Given the description of an element on the screen output the (x, y) to click on. 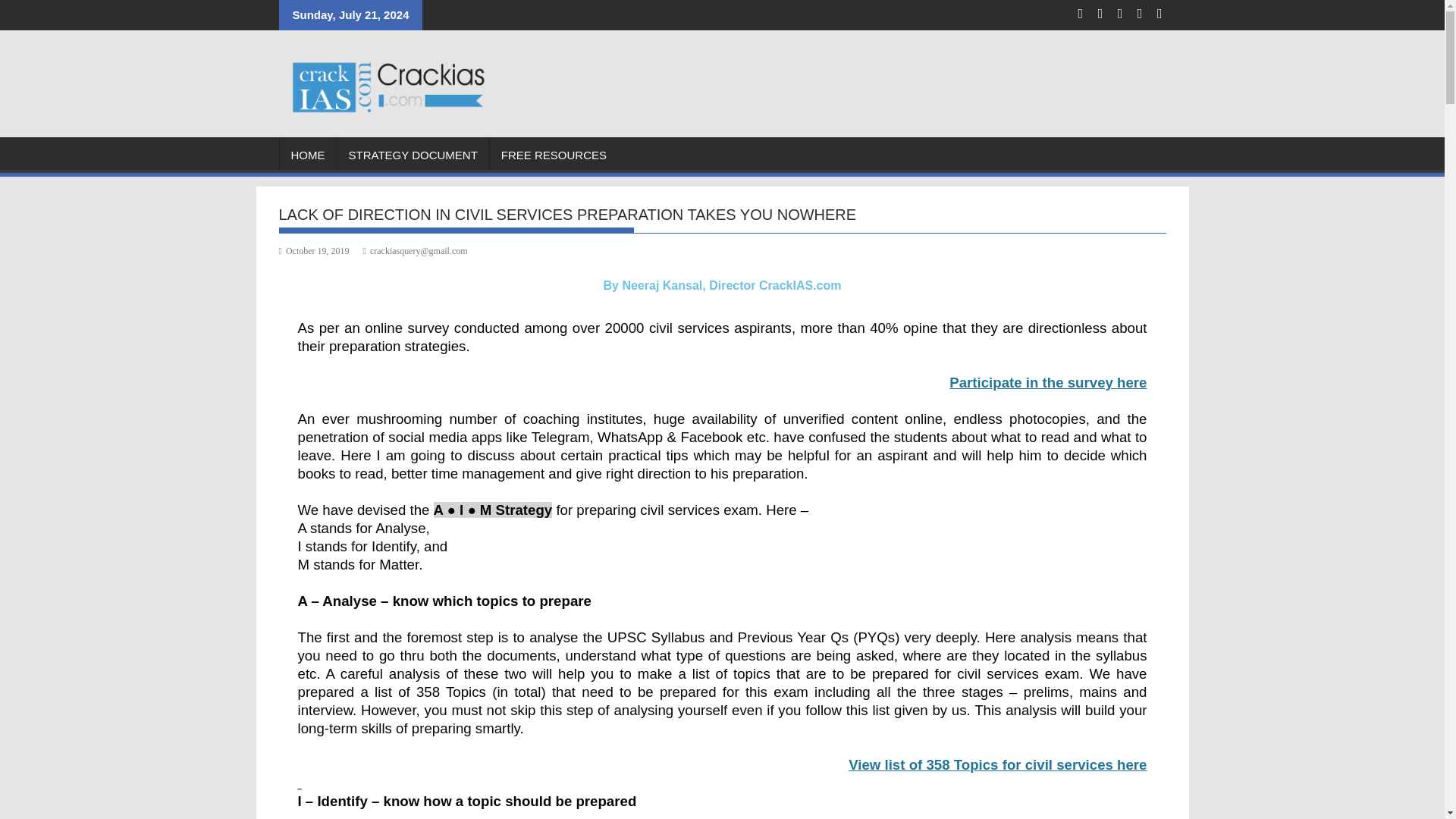
STRATEGY DOCUMENT (411, 155)
October 19, 2019 (314, 250)
View list of 358 Topics for civil services here (997, 765)
HOME (307, 155)
FREE RESOURCES (553, 155)
Participate in the survey here (1048, 382)
